Given the description of an element on the screen output the (x, y) to click on. 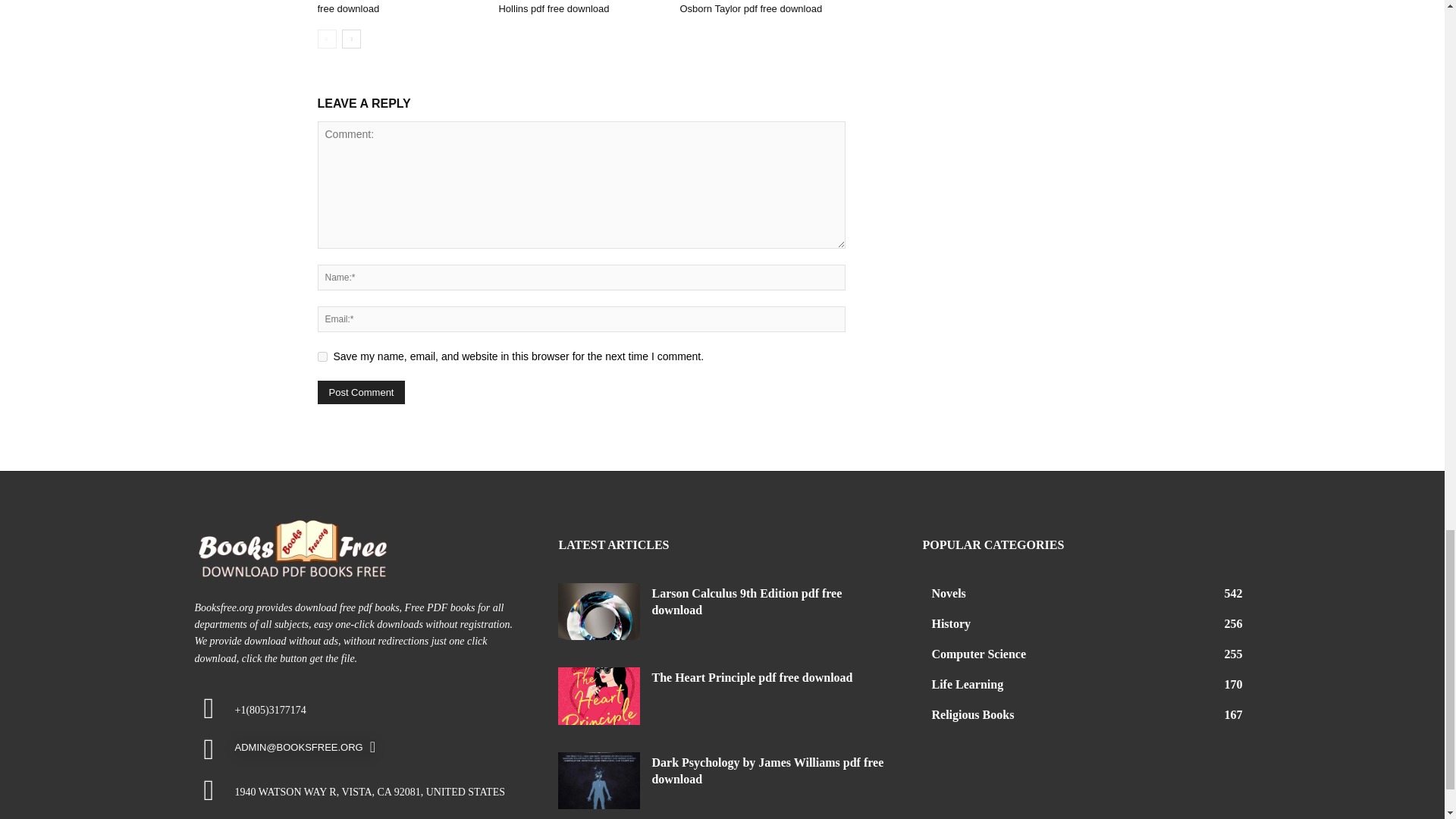
yes (321, 356)
Post Comment (360, 392)
